Given the description of an element on the screen output the (x, y) to click on. 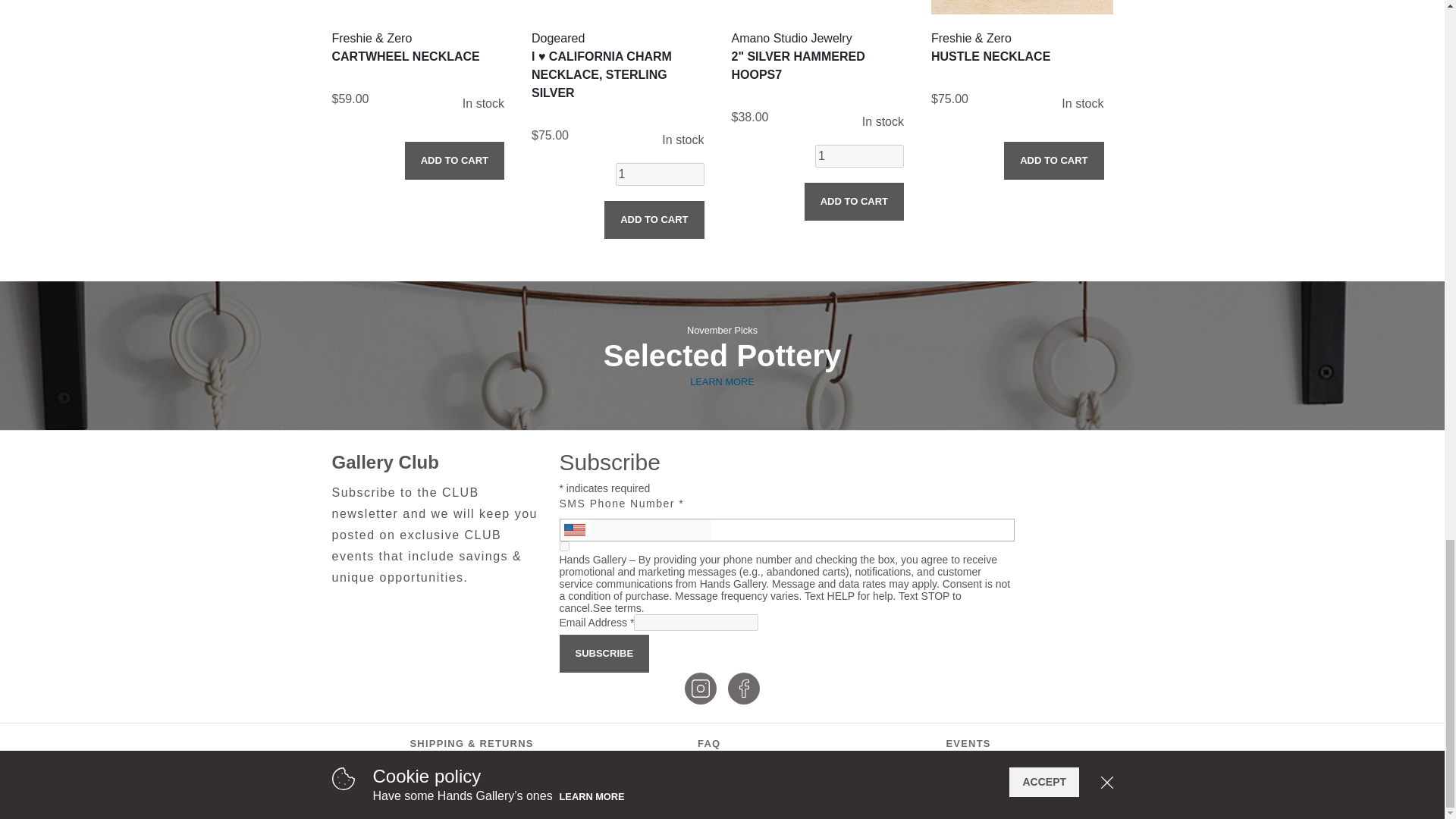
Qty (859, 155)
Qty (659, 173)
Subscribe (604, 653)
1 (659, 173)
1 (859, 155)
true (564, 546)
